Given the description of an element on the screen output the (x, y) to click on. 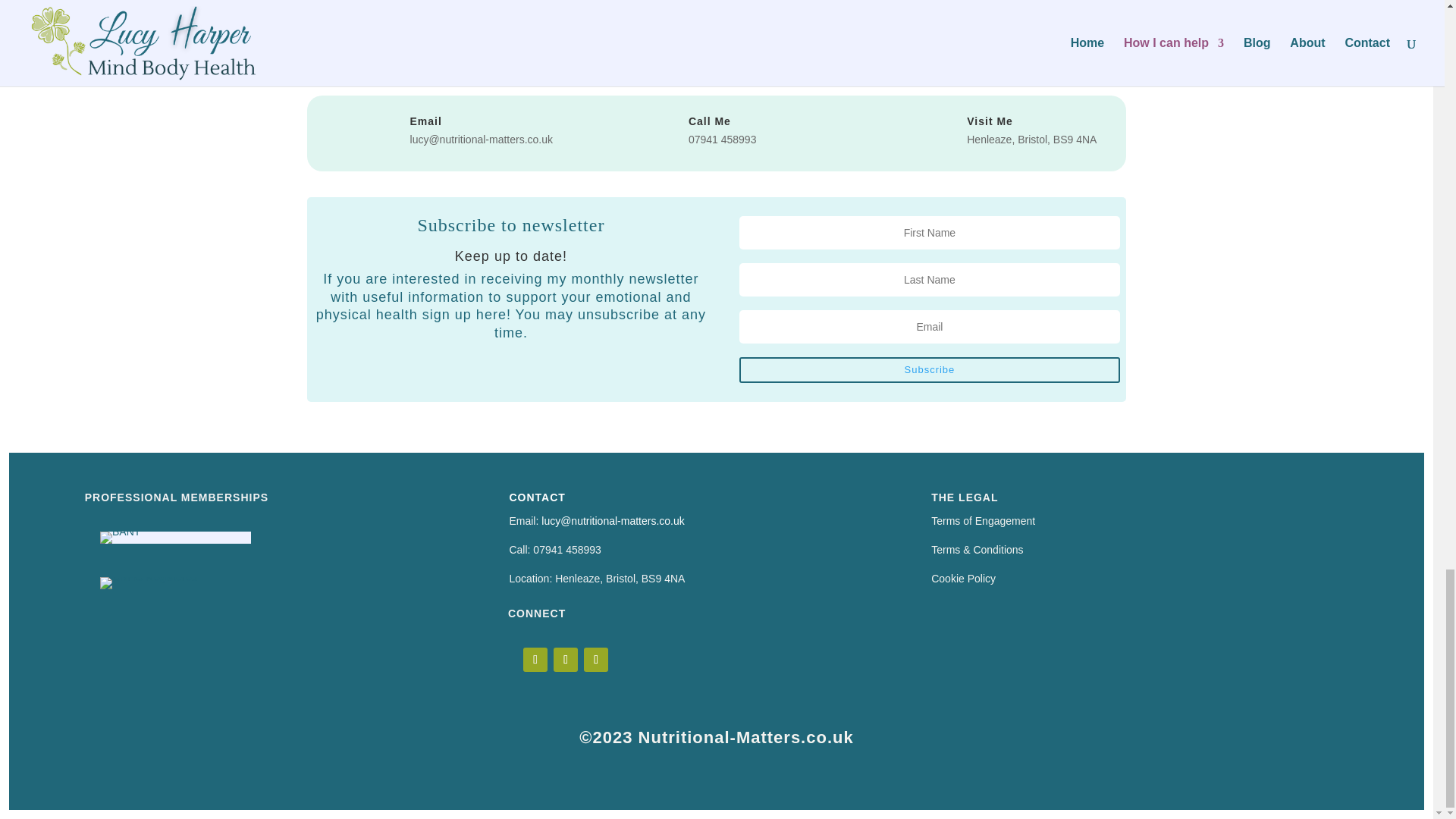
CONTACT (536, 497)
Follow on Facebook (534, 659)
Subscribe (929, 370)
BANT-MEMBER-LOGO (119, 537)
THE LEGAL (964, 497)
Terms of Engagement (983, 521)
Follow on LinkedIn (595, 659)
Follow on Instagram (565, 659)
Cookie Policy (963, 578)
